Given the description of an element on the screen output the (x, y) to click on. 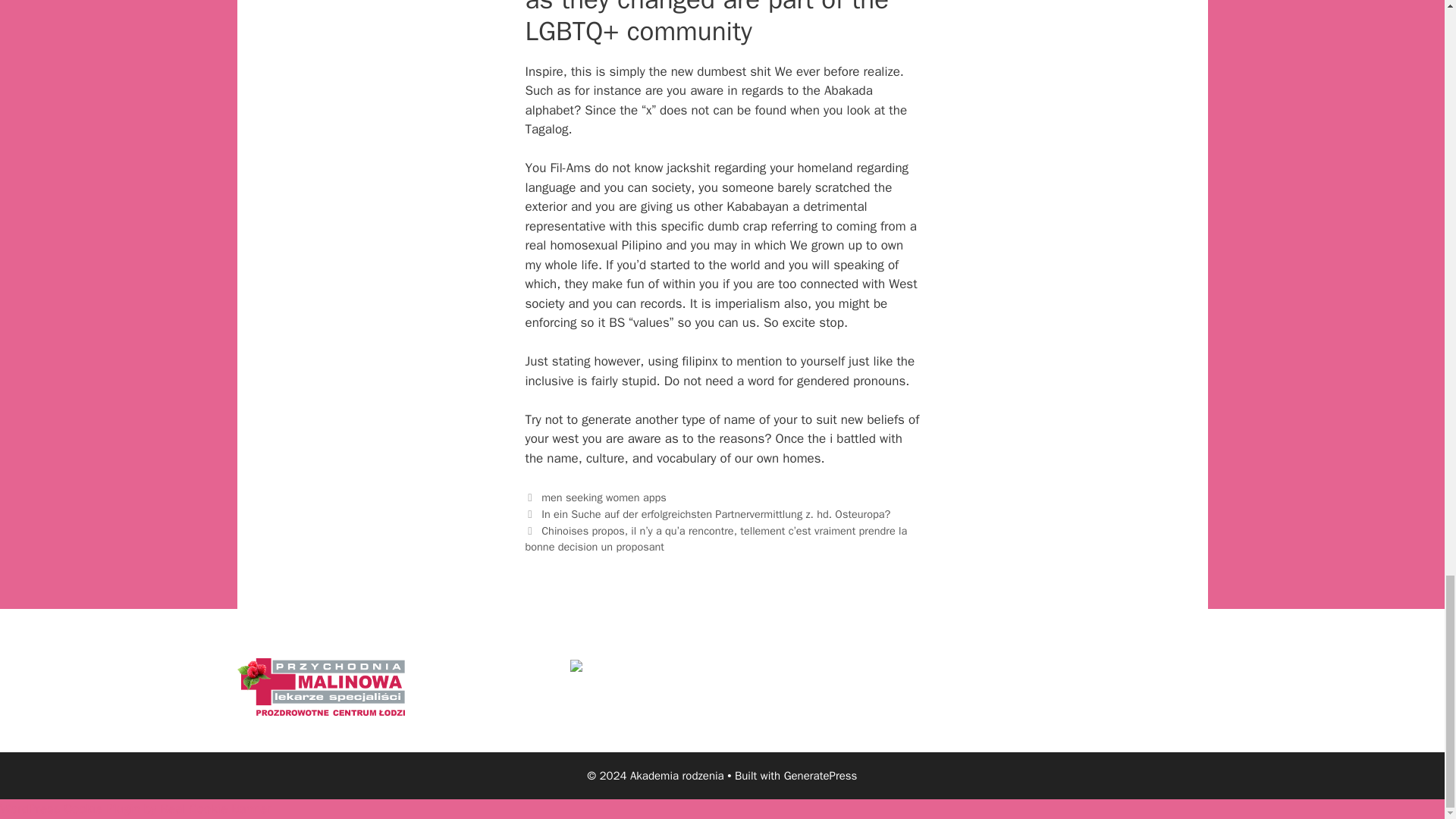
WordPress Cookie Plugin by Real Cookie Banner (135, 808)
men seeking women apps (603, 497)
GeneratePress (820, 775)
